Given the description of an element on the screen output the (x, y) to click on. 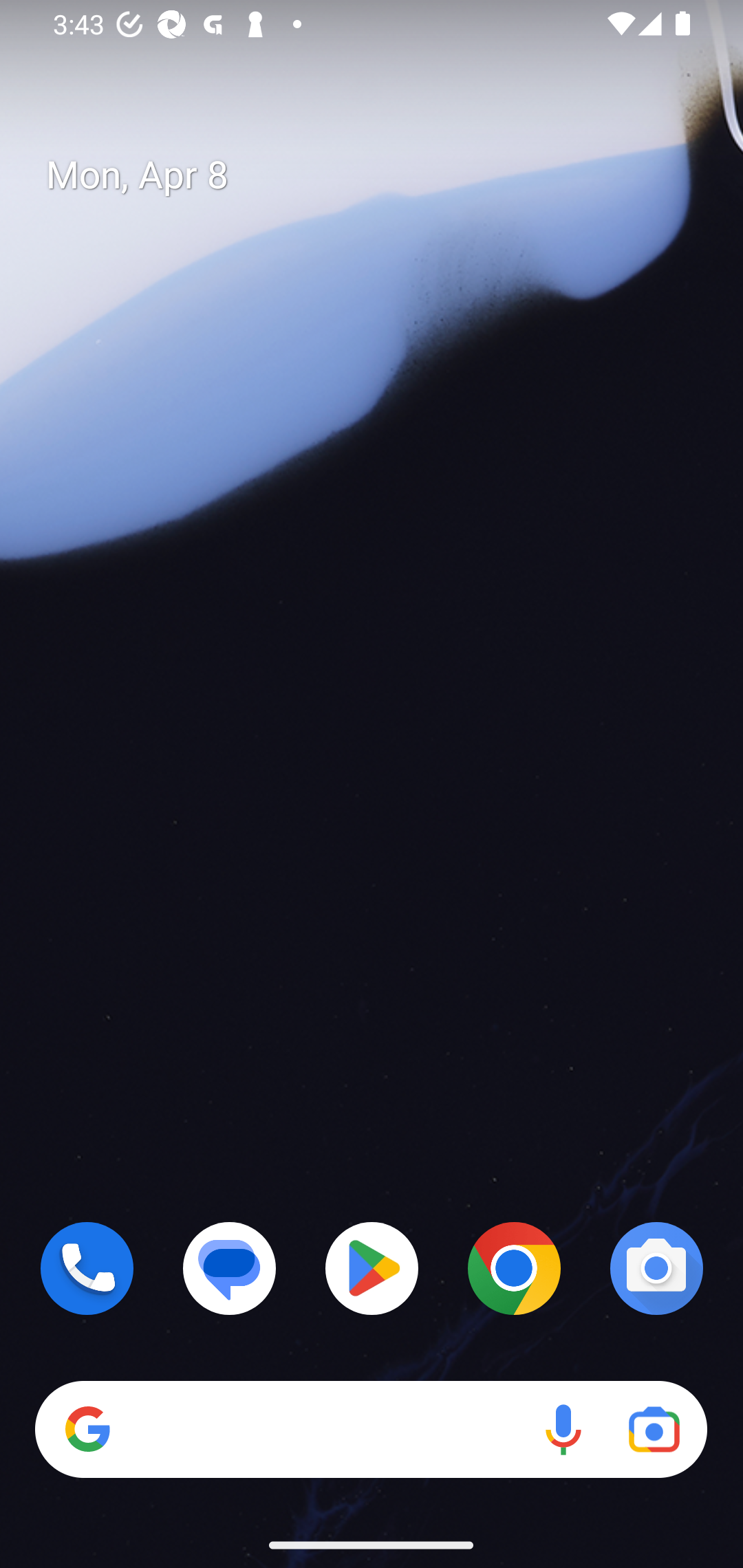
Mon, Apr 8 (386, 175)
Phone (86, 1268)
Messages (229, 1268)
Play Store (371, 1268)
Chrome (513, 1268)
Camera (656, 1268)
Search Voice search Google Lens (370, 1429)
Voice search (562, 1429)
Google Lens (653, 1429)
